Given the description of an element on the screen output the (x, y) to click on. 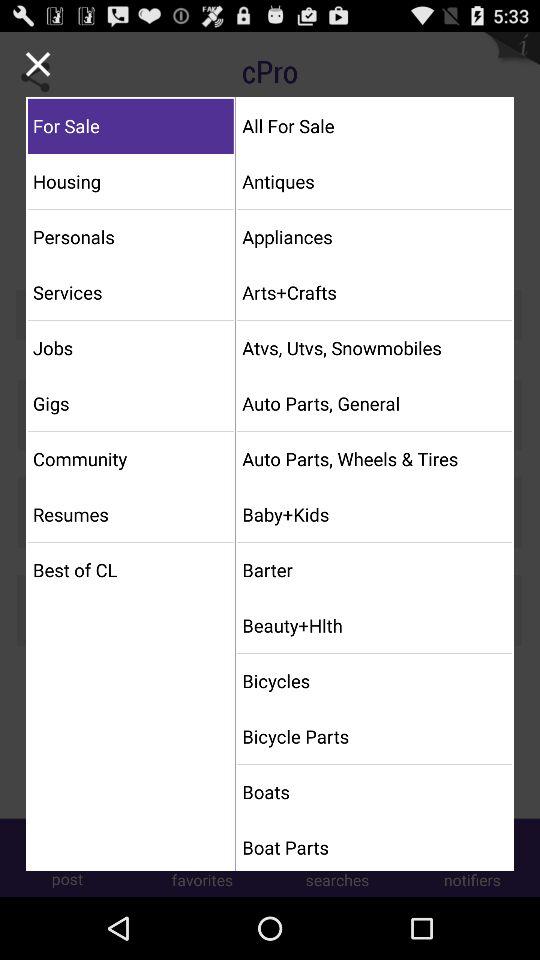
choose app below jobs app (130, 403)
